Given the description of an element on the screen output the (x, y) to click on. 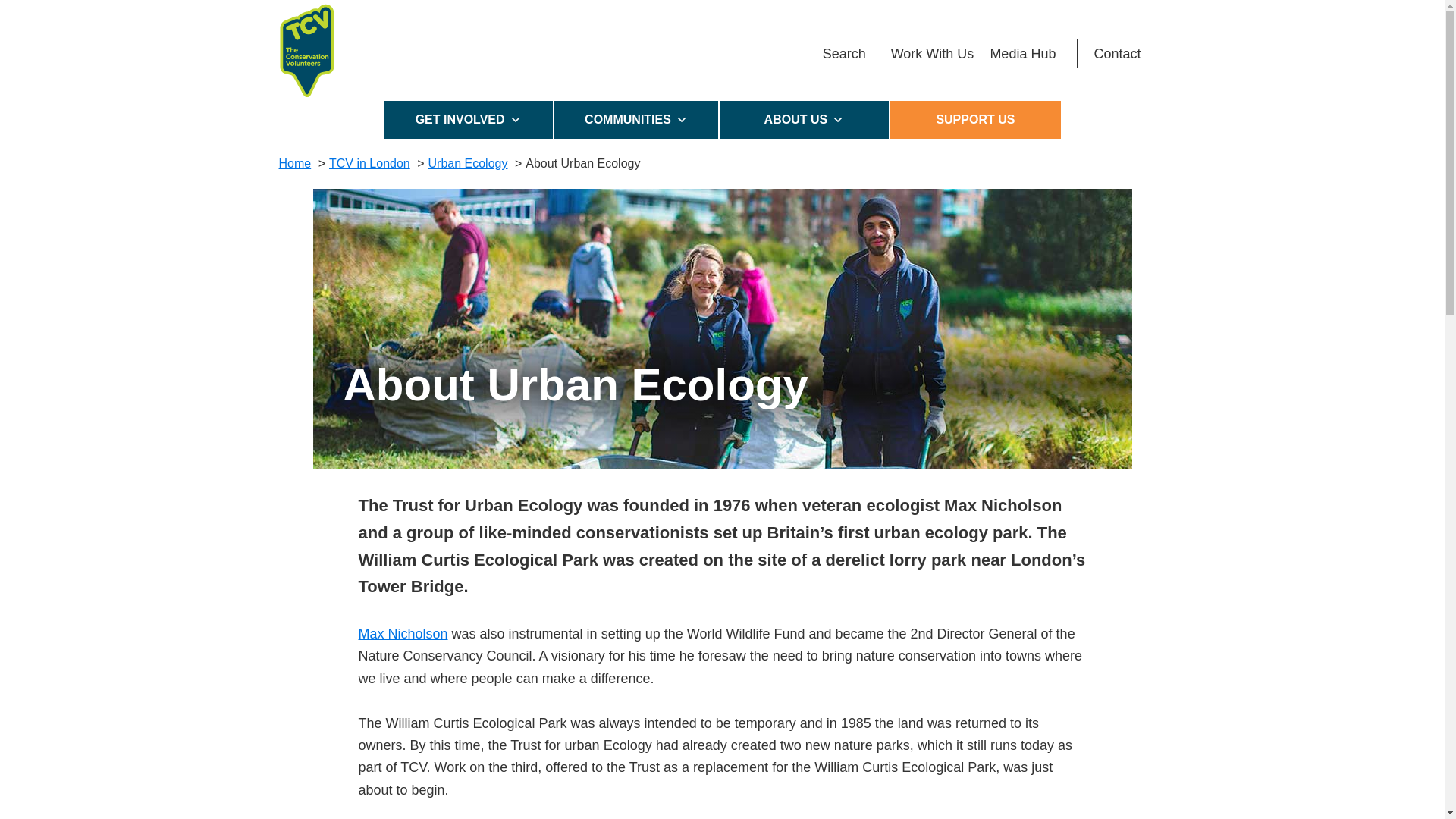
Search (843, 53)
COMMUNITIES (636, 119)
Media Hub (1021, 53)
Website about Max Nicholson (402, 633)
GET INVOLVED (469, 119)
Contact (1117, 53)
ABOUT US (804, 119)
Work With Us (932, 53)
